Given the description of an element on the screen output the (x, y) to click on. 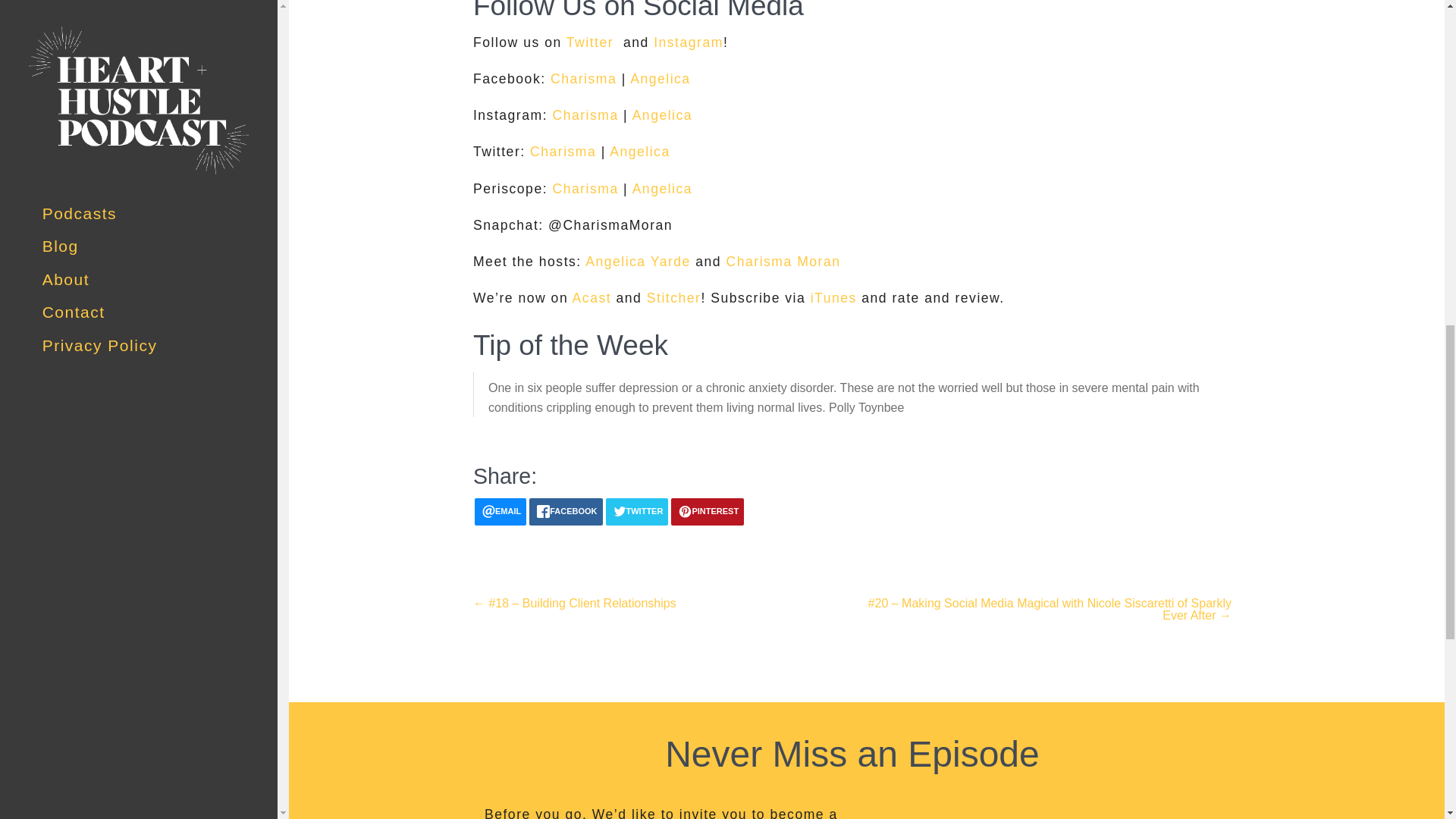
Charisma (562, 151)
Instagram (688, 42)
iTunes (833, 297)
Charisma Moran (783, 261)
Charisma (584, 114)
Acast (591, 297)
Charisma (584, 188)
TWITTER (636, 511)
PINTEREST (707, 511)
Twitter (587, 42)
Angelica (662, 114)
Angelica (662, 188)
Stitcher (673, 297)
Angelica (639, 151)
Angelica (660, 78)
